Given the description of an element on the screen output the (x, y) to click on. 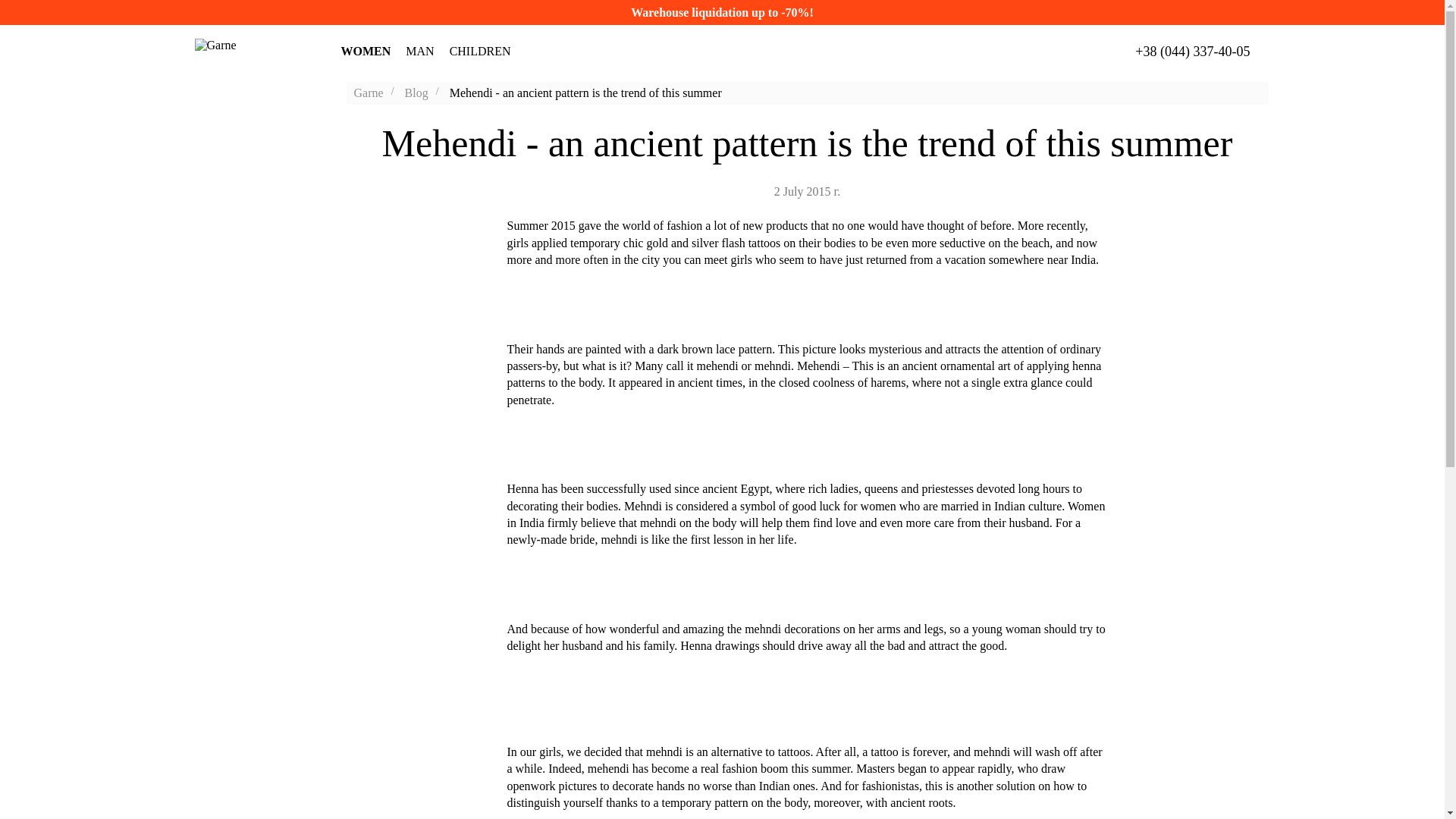
Garne (367, 92)
CHILDREN (480, 51)
WOMEN (365, 51)
Garne (245, 51)
Blog (416, 92)
MAN (419, 51)
